Given the description of an element on the screen output the (x, y) to click on. 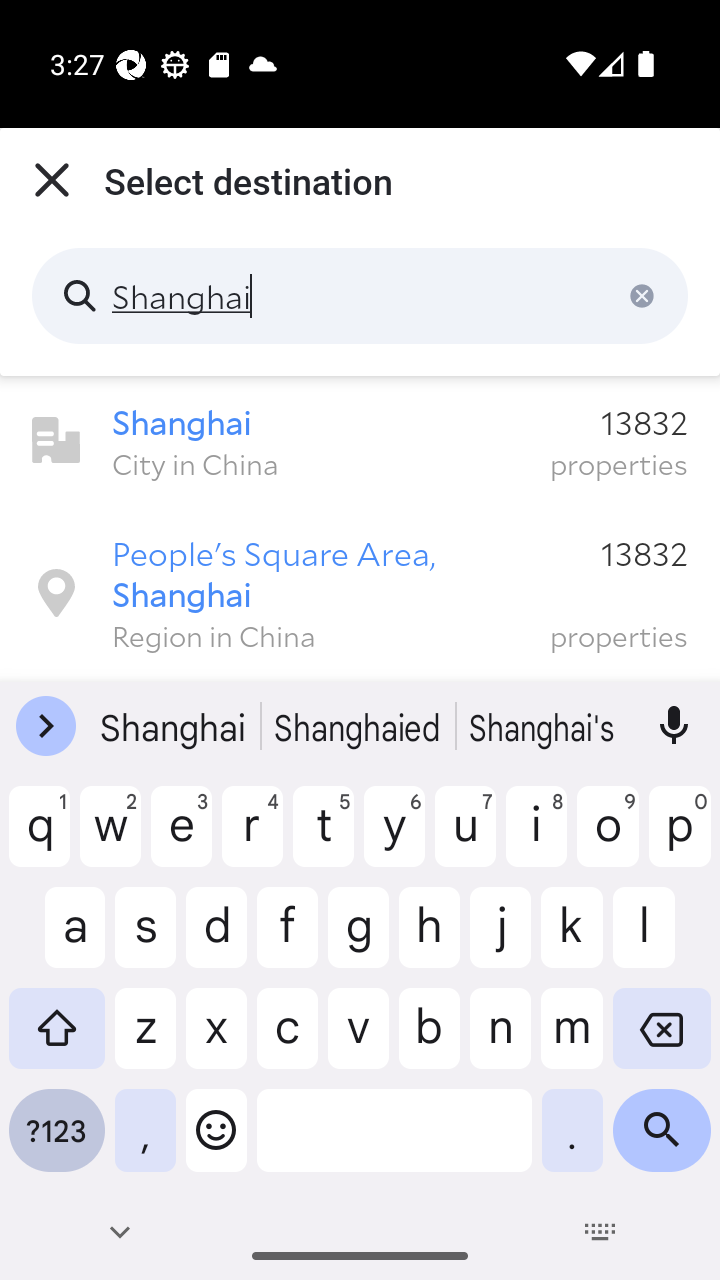
Shanghai (359, 296)
Shanghai 13832 City in China properties (360, 441)
